Given the description of an element on the screen output the (x, y) to click on. 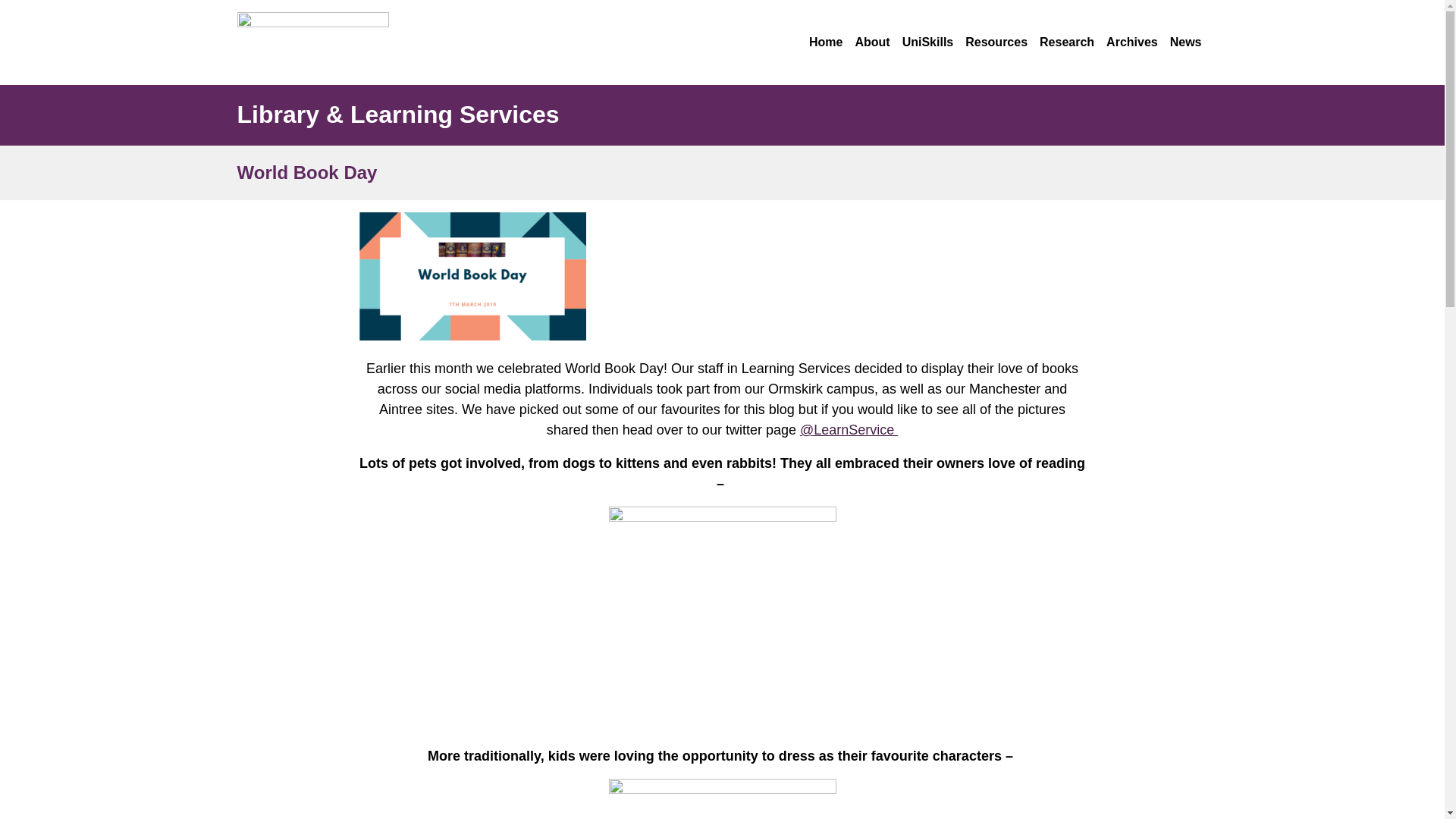
Archives (1131, 42)
About (871, 42)
UniSkills (927, 42)
Resources (996, 42)
News (1186, 42)
Research (1066, 42)
Home (826, 42)
